Given the description of an element on the screen output the (x, y) to click on. 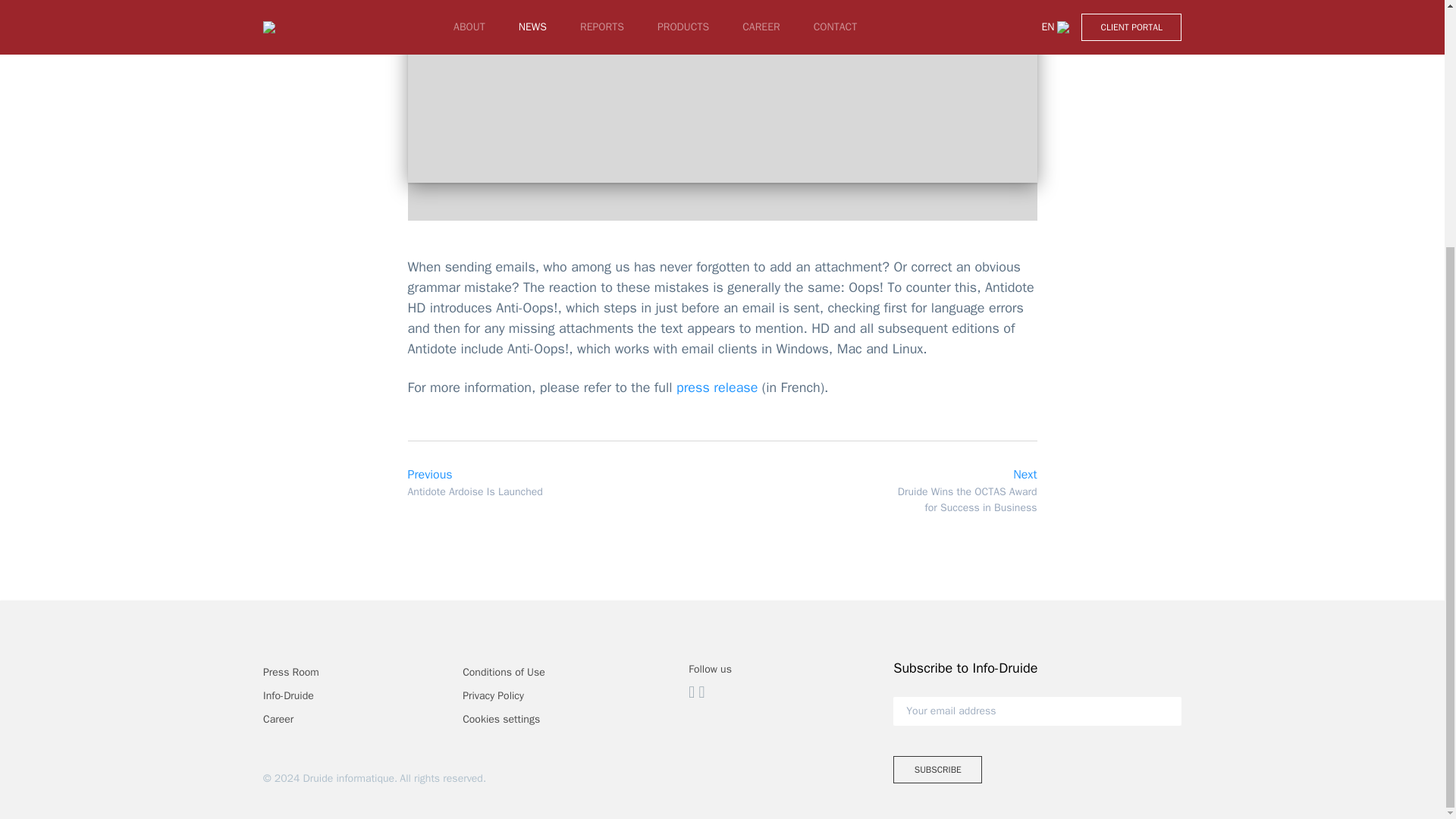
Subscribe (937, 768)
